Given the description of an element on the screen output the (x, y) to click on. 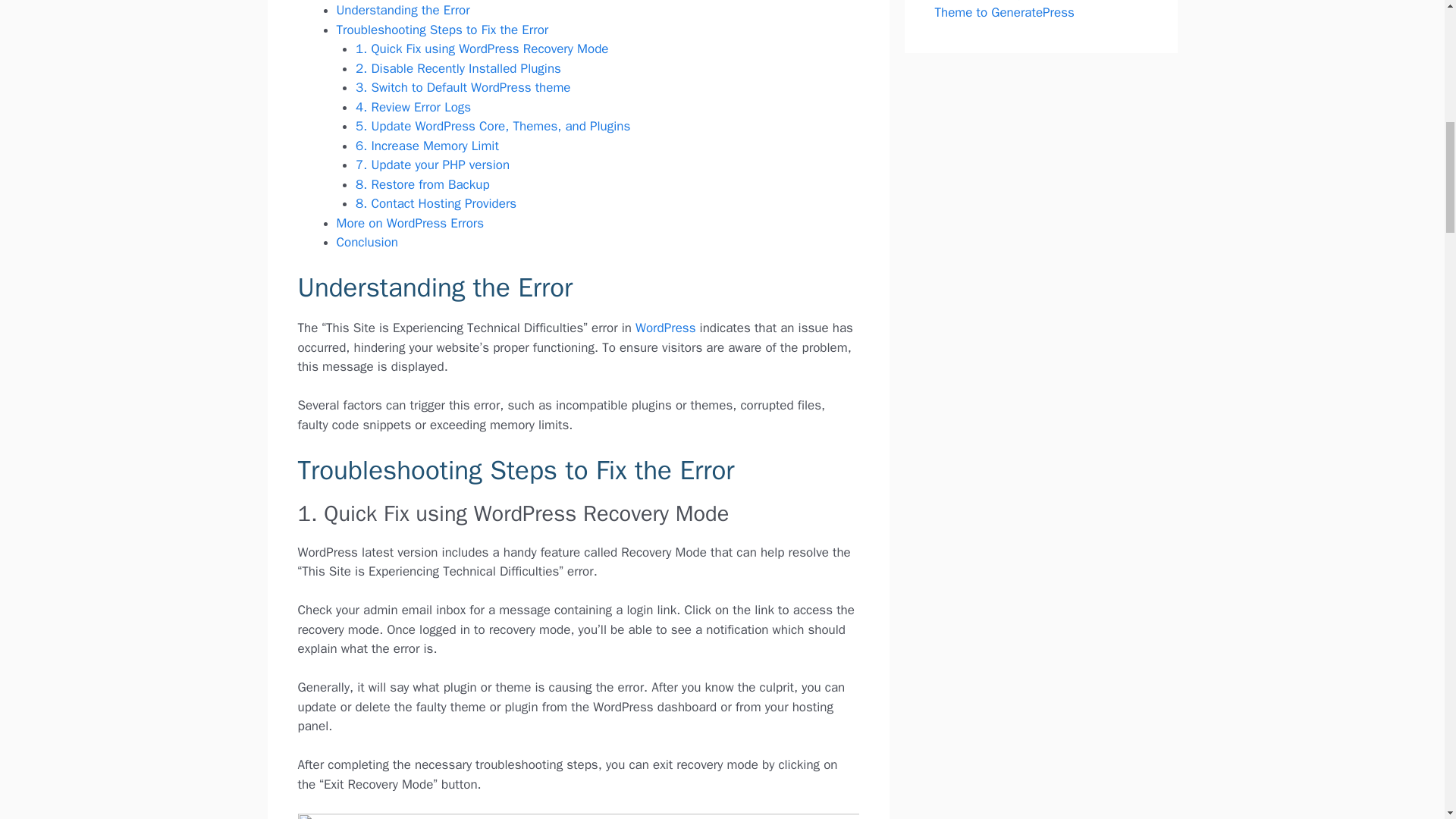
4. Review Error Logs (412, 107)
3. Switch to Default WordPress theme (462, 87)
8. Contact Hosting Providers (435, 203)
8. Restore from Backup (422, 184)
WordPress (664, 327)
Conclusion (366, 242)
7. Update your PHP version (432, 164)
More on WordPress Errors (410, 222)
5. Update WordPress Core, Themes, and Plugins (492, 125)
Troubleshooting Steps to Fix the Error (442, 29)
